Given the description of an element on the screen output the (x, y) to click on. 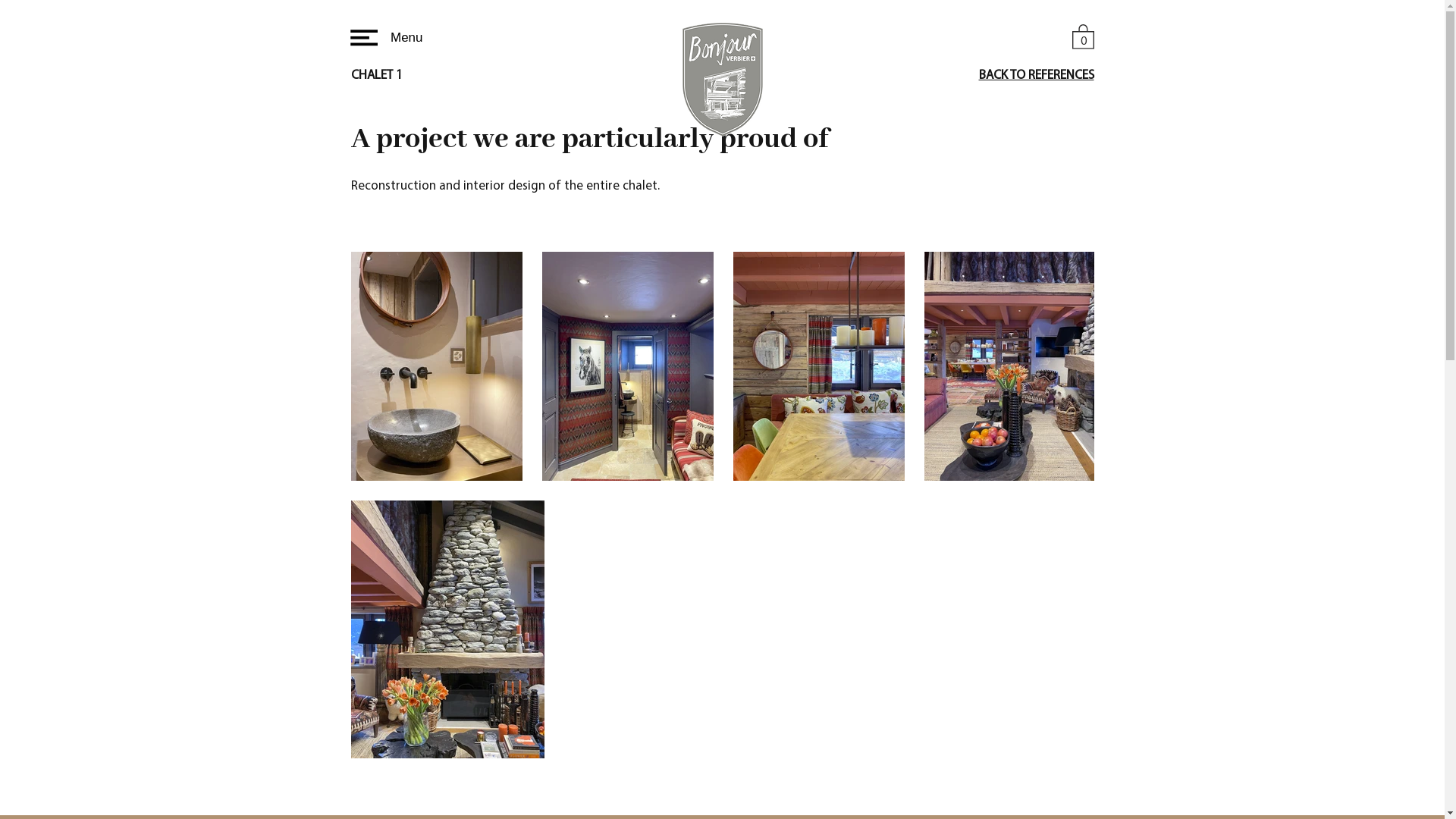
Logo_BVIDS.png Element type: hover (722, 79)
BACK TO REFERENCES Element type: text (1035, 75)
0 Element type: text (1083, 35)
Menu Element type: text (383, 37)
